Given the description of an element on the screen output the (x, y) to click on. 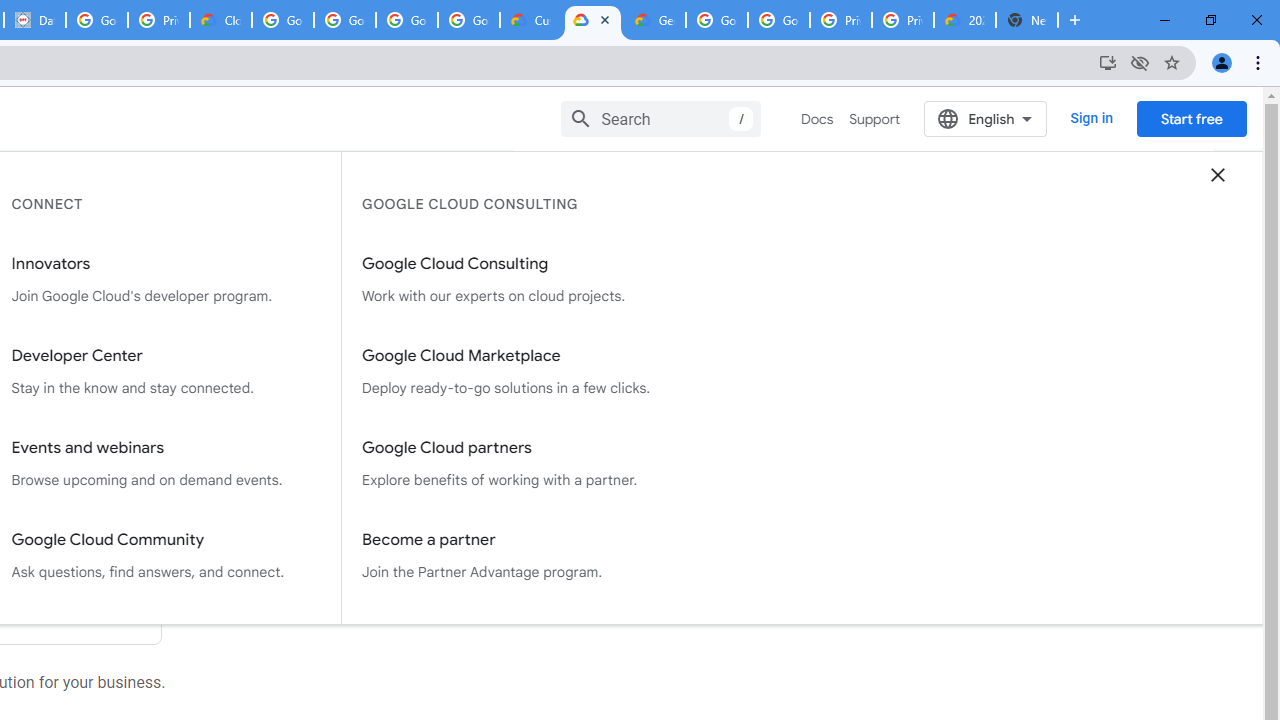
Google Workspace - Specific Terms (406, 20)
Third-party cookies blocked (1139, 62)
Close dropdown menu (1217, 174)
Google Cloud Platform (716, 20)
Developer Center Stay in the know and stay connected. (166, 372)
Customer Care | Google Cloud (530, 20)
Google Workspace - Specific Terms (468, 20)
